Given the description of an element on the screen output the (x, y) to click on. 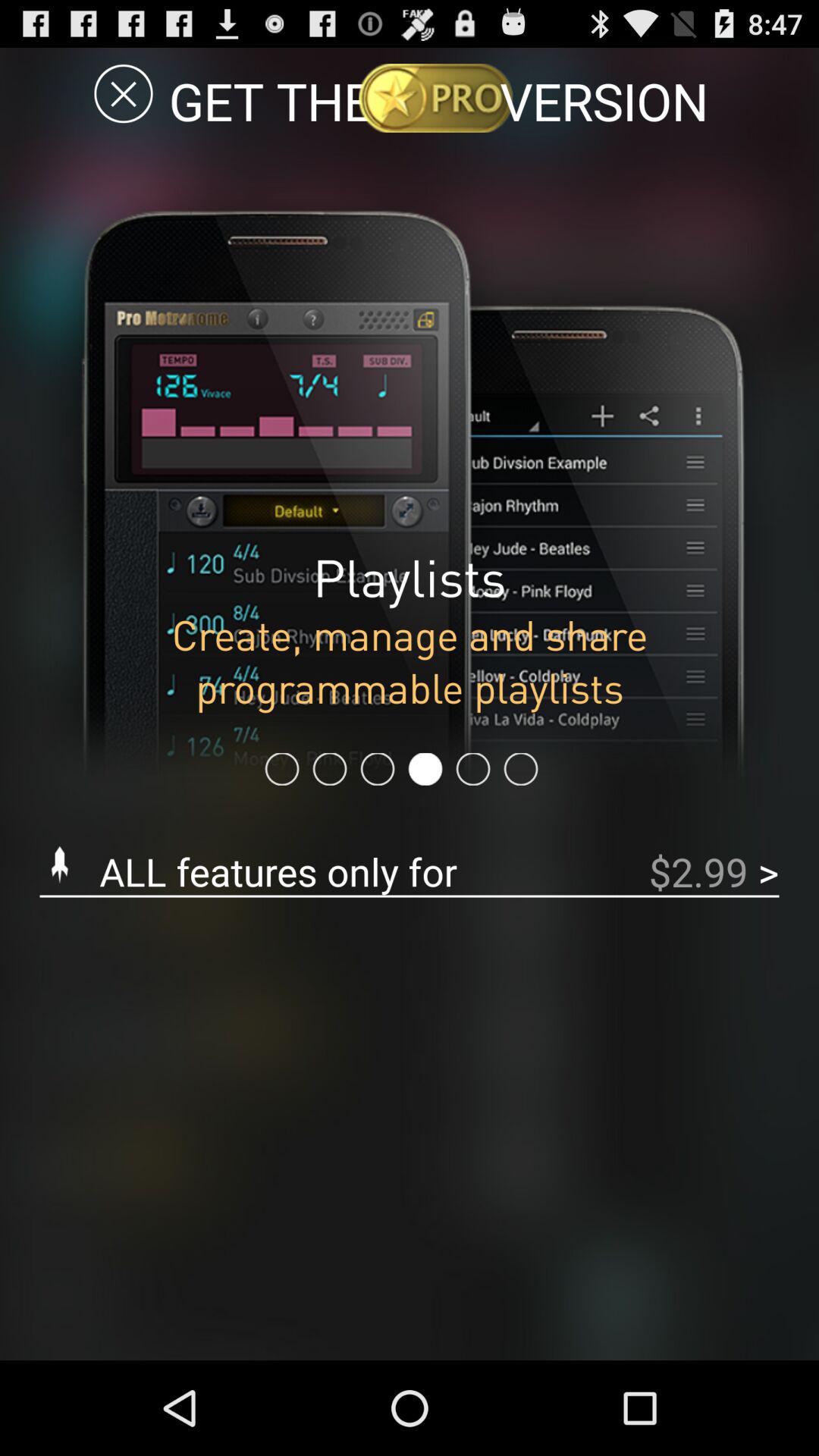
launch the icon next to get the app (123, 93)
